Given the description of an element on the screen output the (x, y) to click on. 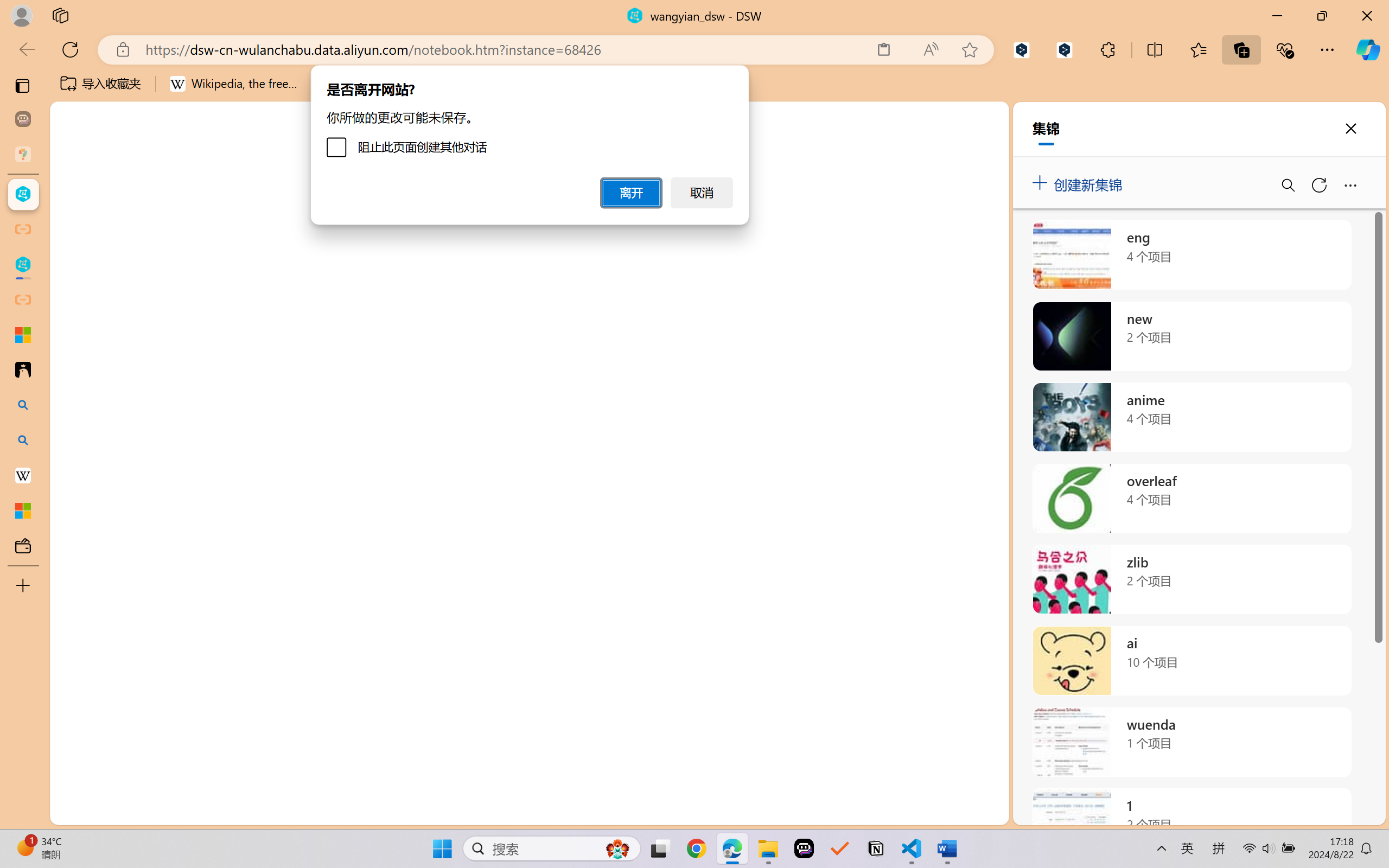
Earth - Wikipedia (22, 475)
remote (66, 812)
Class: menubar compact overflow-menu-only (73, 194)
Launch Profile... (1288, 565)
copilot-notconnected, Copilot error (click for details) (1331, 812)
